Given the description of an element on the screen output the (x, y) to click on. 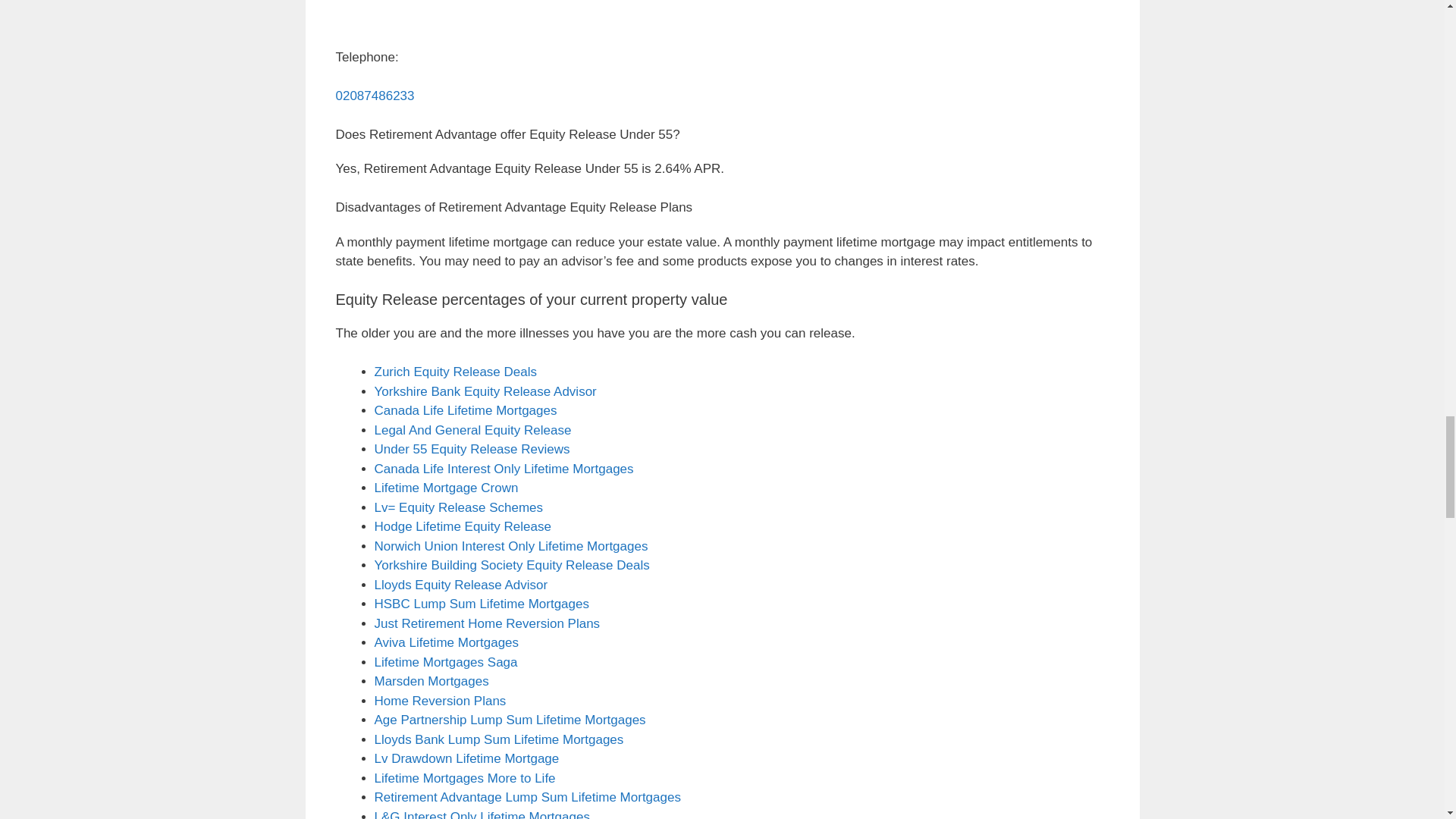
Lifetime Mortgages More to Life (465, 778)
Lifetime Mortgages Saga (446, 662)
Just Retirement Home Reversion Plans (486, 623)
Canada Life Interest Only Lifetime Mortgages (503, 468)
Retirement Advantage Lump Sum Lifetime Mortgages (527, 797)
Norwich Union Interest Only Lifetime Mortgages (510, 545)
Lifetime Mortgage Crown (446, 487)
Under 55 Equity Release Reviews (472, 449)
Lloyds Equity Release Advisor (461, 585)
Canada Life Lifetime Mortgages (465, 410)
Home Reversion Plans (440, 700)
Legal And General Equity Release (473, 430)
02087486233 (373, 95)
Yorkshire Bank Equity Release Advisor (485, 391)
Aviva Lifetime Mortgages (446, 642)
